Given the description of an element on the screen output the (x, y) to click on. 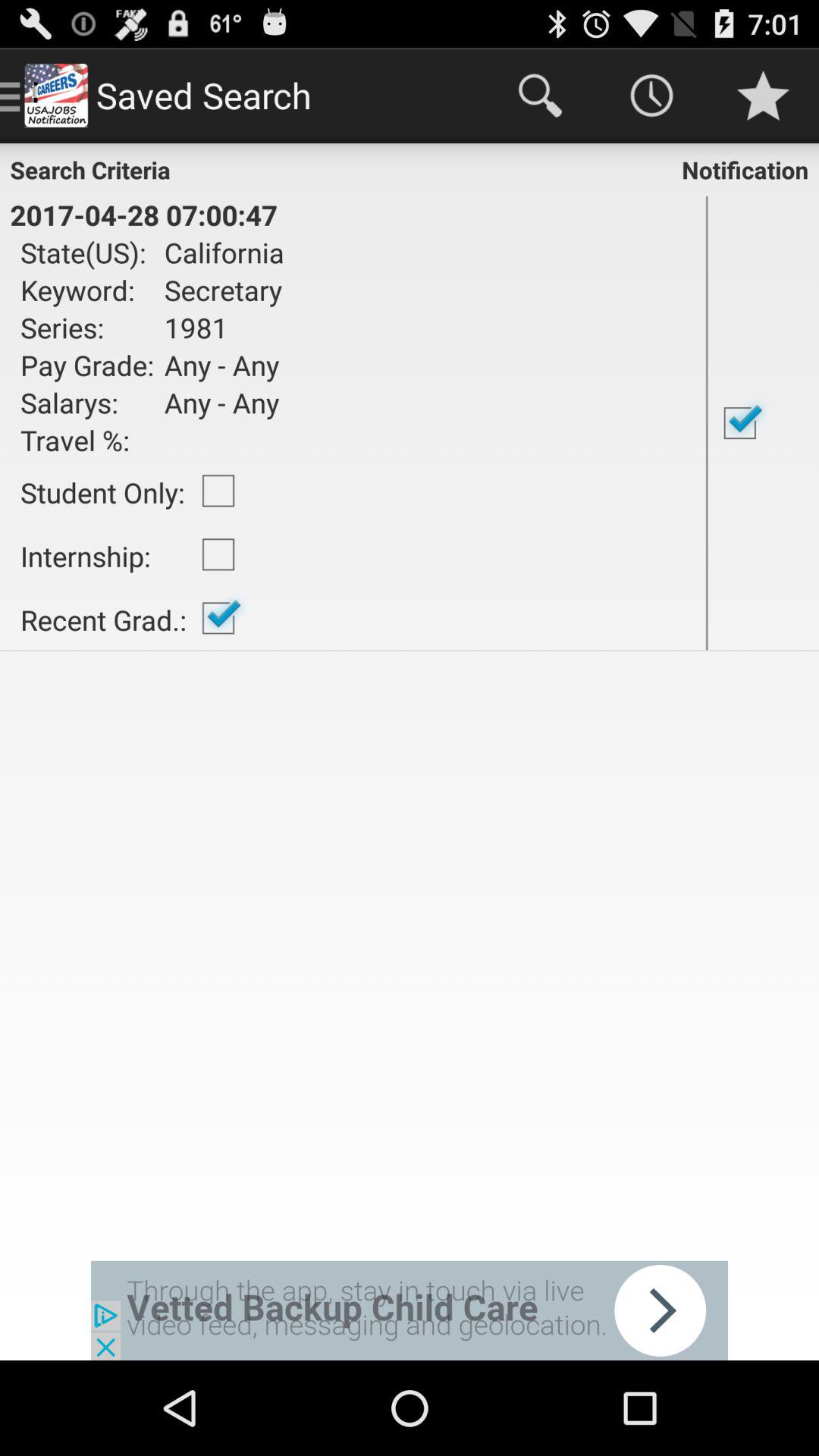
advertisement display (409, 1310)
